Given the description of an element on the screen output the (x, y) to click on. 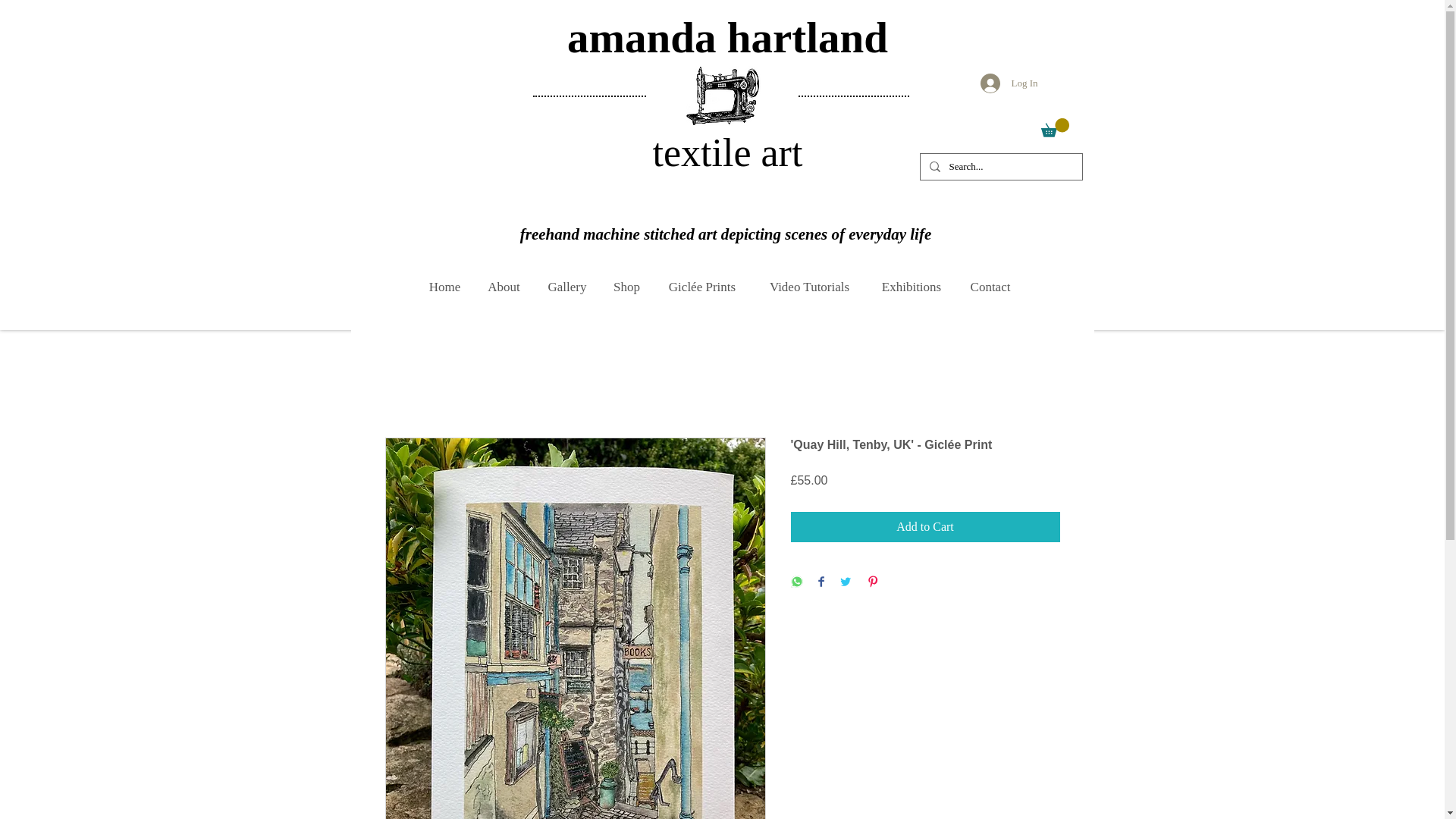
Home (444, 287)
textile art (727, 152)
amanda hartland (727, 37)
Gallery (566, 287)
Video Tutorials (809, 287)
Add to Cart (924, 526)
About (504, 287)
Shop (625, 287)
Contact (990, 287)
Log In (1008, 82)
Exhibitions (911, 287)
